Given the description of an element on the screen output the (x, y) to click on. 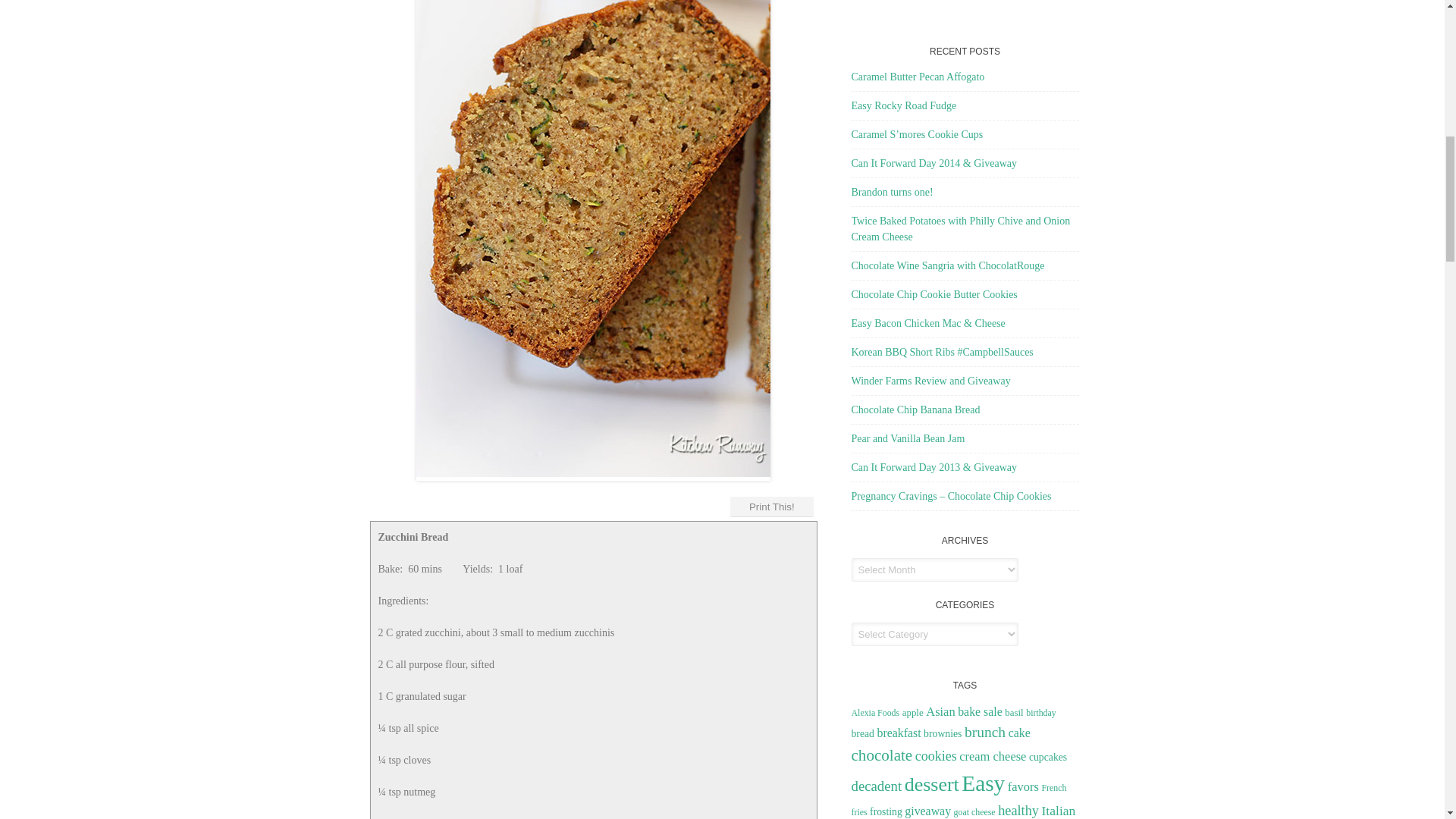
10 topics (980, 711)
5 topics (1041, 712)
6 topics (1013, 712)
10 topics (898, 732)
11 topics (940, 711)
6 topics (912, 712)
5 topics (874, 712)
7 topics (861, 733)
    Print This!     (771, 506)
